Given the description of an element on the screen output the (x, y) to click on. 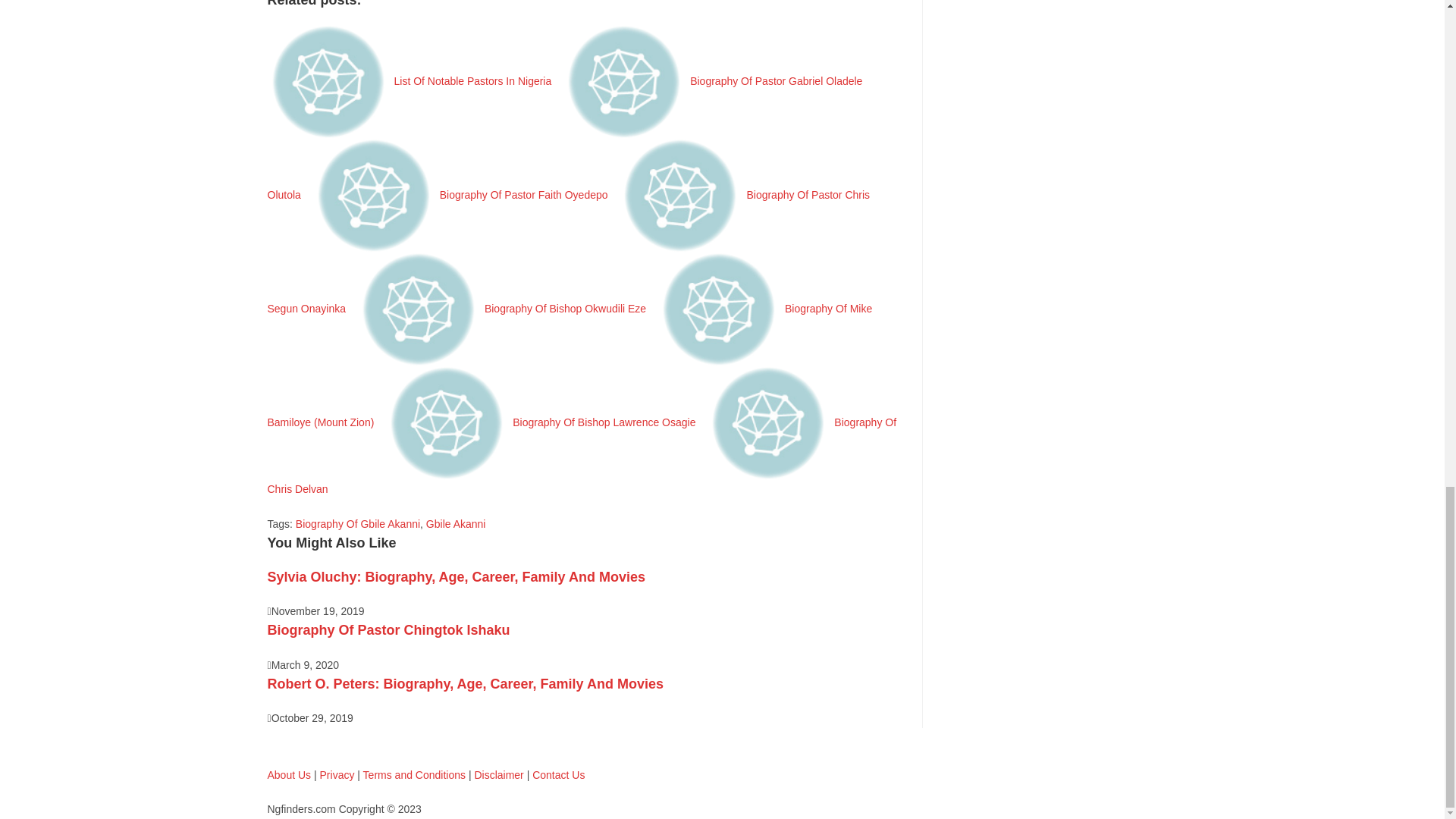
Biography Of Pastor Chris Segun Onayinka (567, 251)
Biography Of Bishop Lawrence Osagie (542, 422)
Biography Of Pastor Gabriel Oladele Olutola (563, 137)
List Of Notable Pastors In Nigeria (411, 80)
List Of Notable Pastors In Nigeria (411, 80)
Biography Of Pastor Gabriel Oladele Olutola (563, 137)
Biography Of Bishop Okwudili Eze (504, 308)
Biography Of Pastor Faith Oyedepo (462, 194)
Biography Of Pastor Chris Segun Onayinka (567, 251)
Biography Of Bishop Okwudili Eze (504, 308)
Biography Of Chris Delvan (581, 455)
Biography Of Bishop Lawrence Osagie (542, 422)
Biography Of Pastor Faith Oyedepo (462, 194)
